Given the description of an element on the screen output the (x, y) to click on. 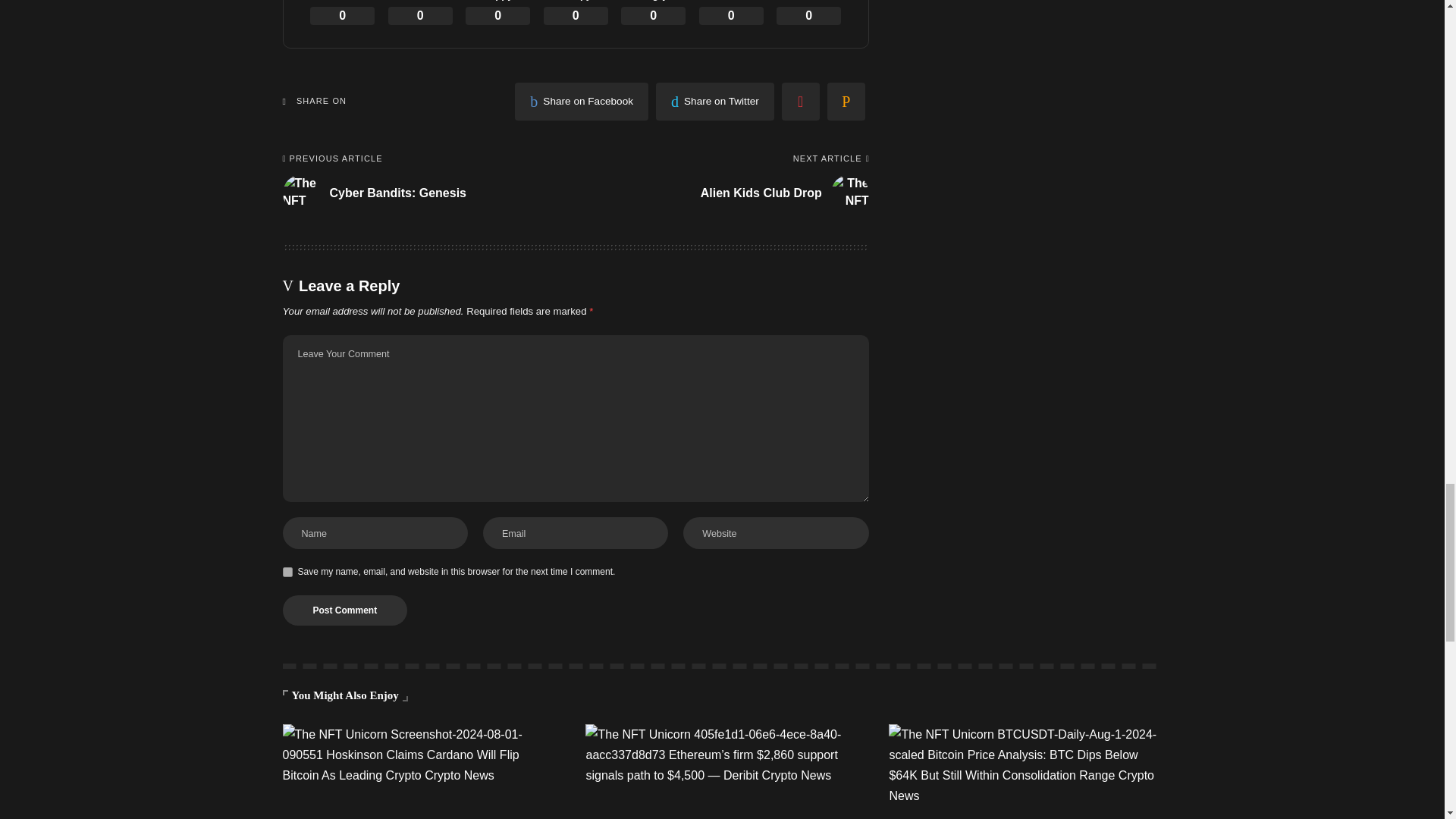
yes (287, 572)
Post Comment (344, 610)
